Given the description of an element on the screen output the (x, y) to click on. 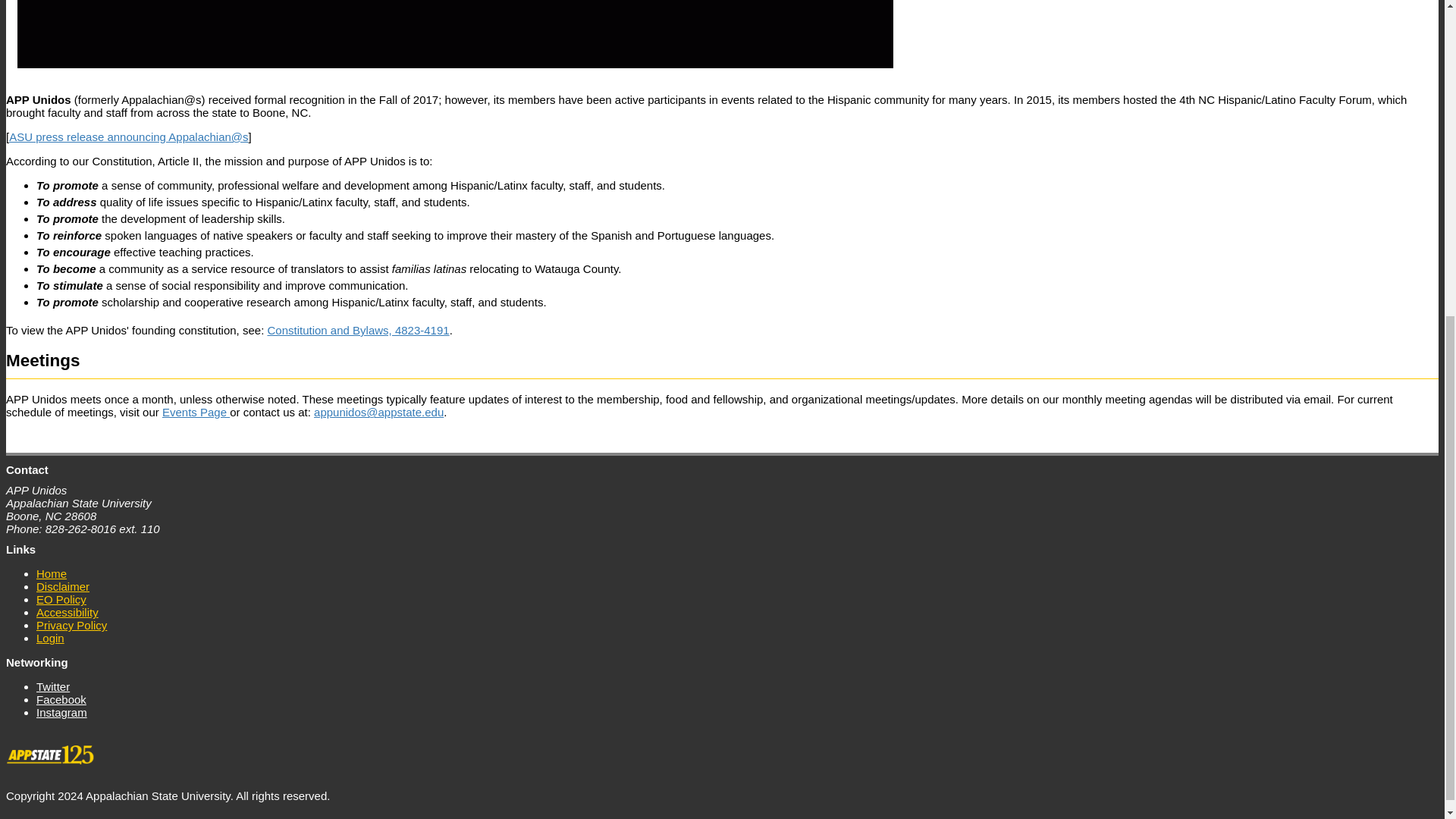
Facebook (63, 699)
Home (51, 573)
Accessibility (67, 611)
Login (50, 637)
Twitter (55, 686)
Appalachian State University (52, 759)
Events Page (195, 411)
EO Policy (60, 599)
Disclaimer (62, 586)
Constitution and Bylaws, 4823-4191 (357, 329)
Privacy Policy (71, 625)
Instagram (63, 712)
